Given the description of an element on the screen output the (x, y) to click on. 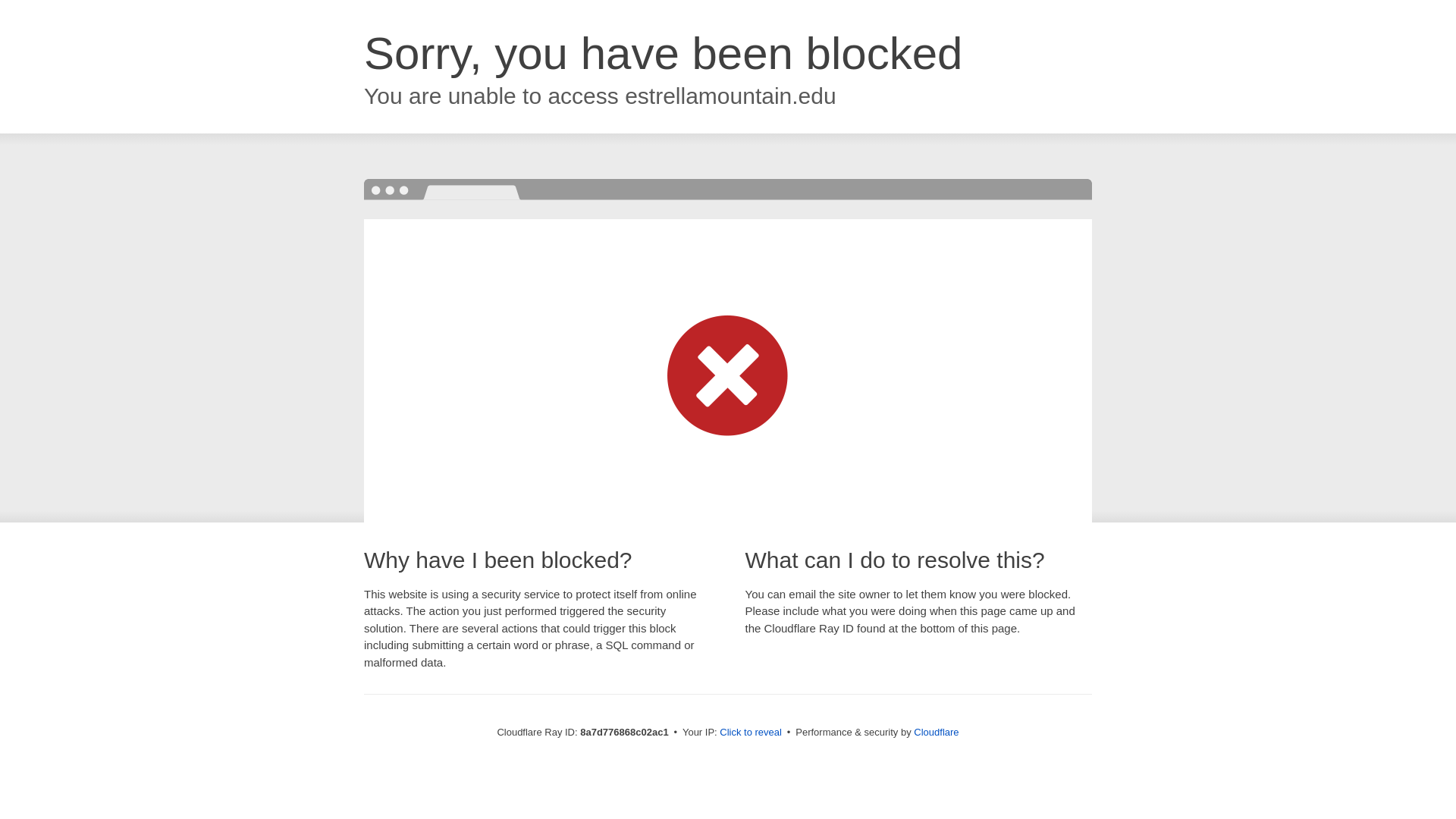
Cloudflare (936, 731)
Click to reveal (750, 732)
